Given the description of an element on the screen output the (x, y) to click on. 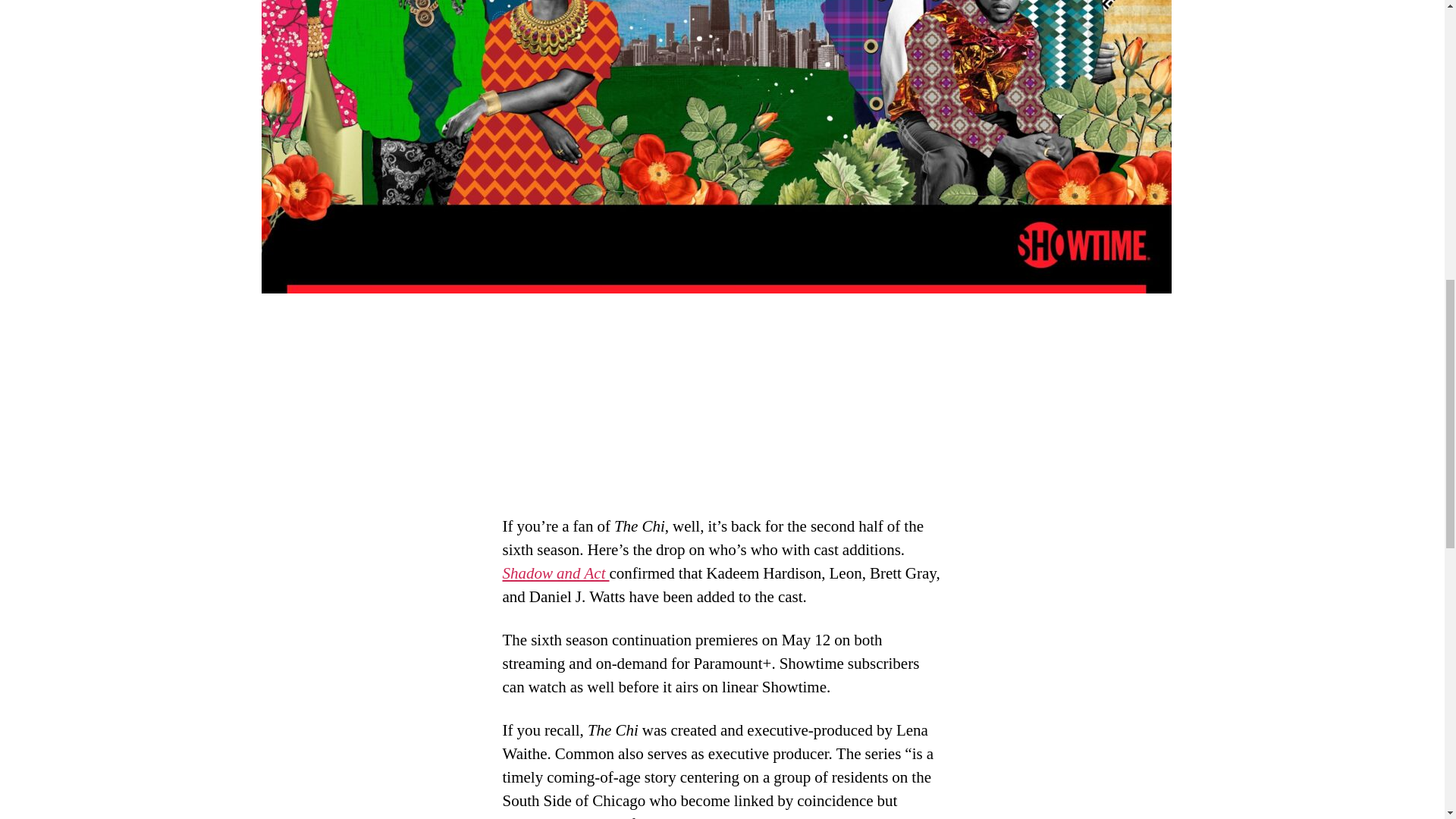
Shadow and Act (555, 573)
